Given the description of an element on the screen output the (x, y) to click on. 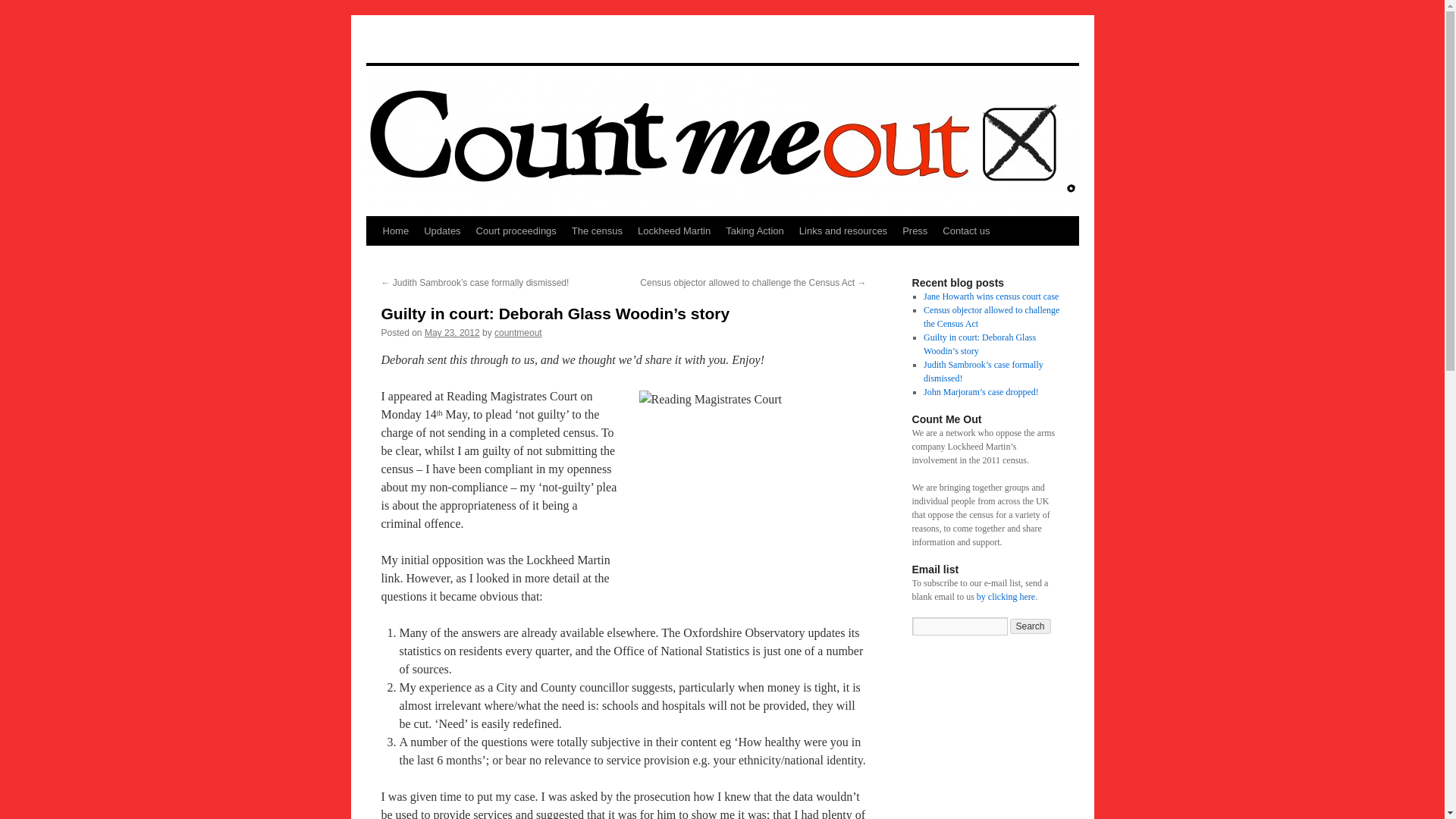
Taking Action (754, 231)
May 23, 2012 (452, 332)
Lockheed Martin (673, 231)
Jane Howarth wins census court case (990, 296)
Updates (441, 231)
View all posts by countmeout (518, 332)
Press (914, 231)
Court proceedings (516, 231)
01:25 (452, 332)
Links and resources (843, 231)
Home (395, 231)
countmeout (518, 332)
Contact us (965, 231)
Skip to content (372, 259)
The census (597, 231)
